Given the description of an element on the screen output the (x, y) to click on. 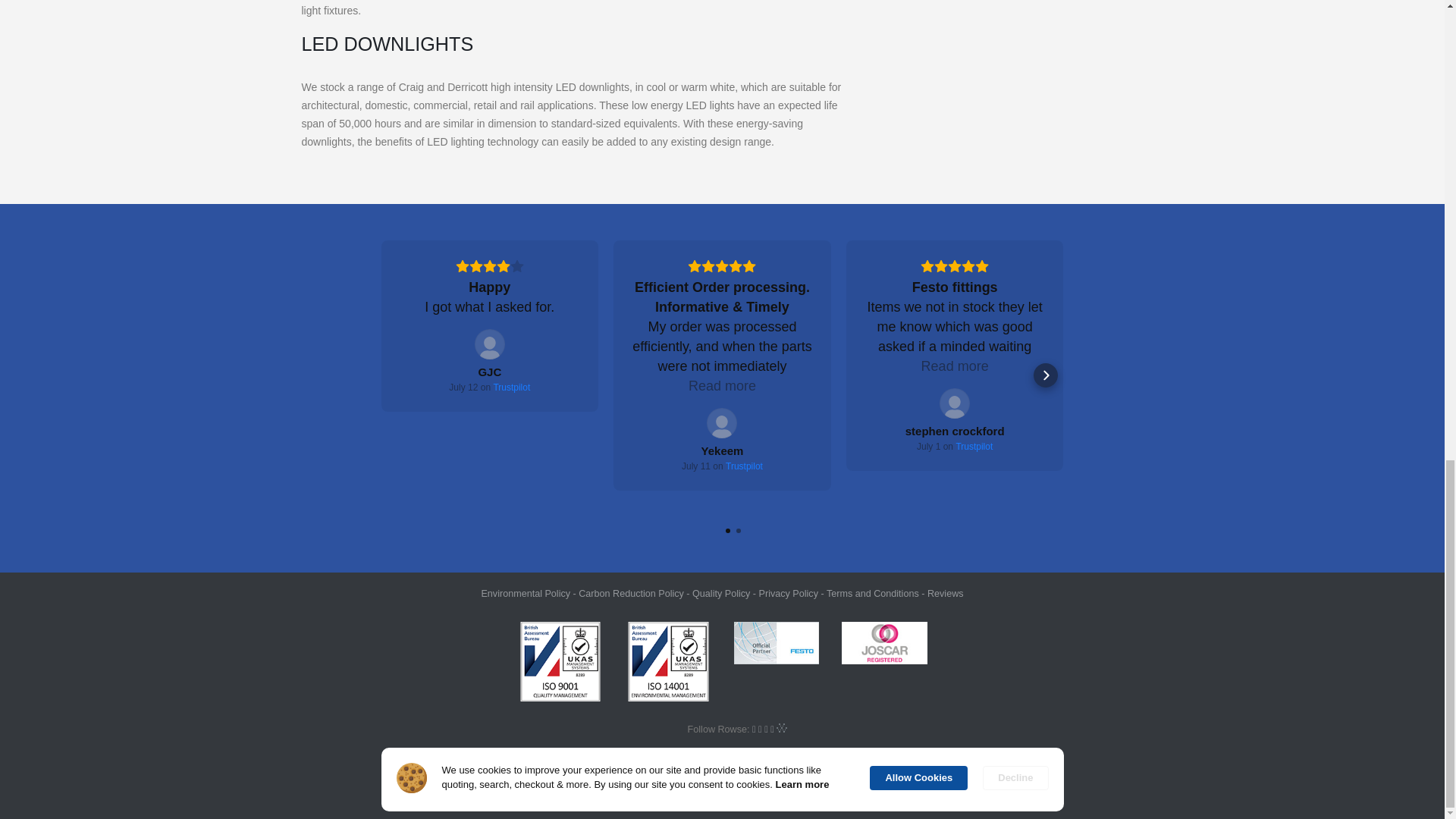
Privacy Policy (788, 593)
Quality Policy (721, 593)
Carbon Reduction Policy (631, 593)
Environmental Policy (525, 593)
Rowse Reviews (945, 593)
Terms and Conditions (872, 593)
Festo Partner (776, 642)
